Given the description of an element on the screen output the (x, y) to click on. 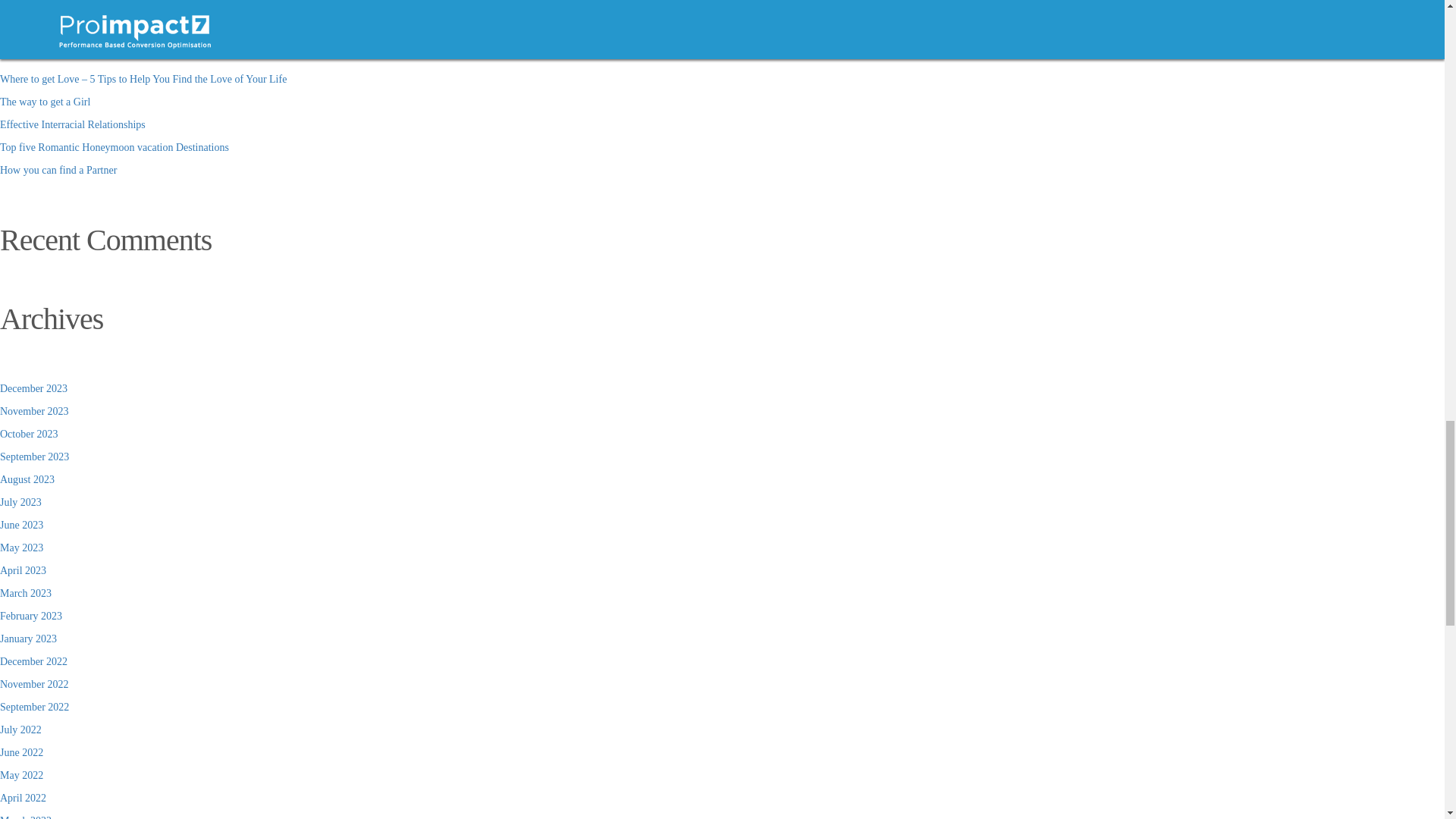
The way to get a Girl (45, 101)
July 2022 (21, 729)
December 2023 (33, 388)
August 2023 (27, 479)
April 2023 (23, 570)
March 2023 (25, 593)
June 2023 (21, 524)
November 2022 (34, 684)
December 2022 (33, 661)
May 2023 (21, 547)
Effective Interracial Relationships (72, 124)
February 2023 (31, 615)
May 2022 (21, 775)
How you can find a Partner (58, 170)
November 2023 (34, 410)
